Given the description of an element on the screen output the (x, y) to click on. 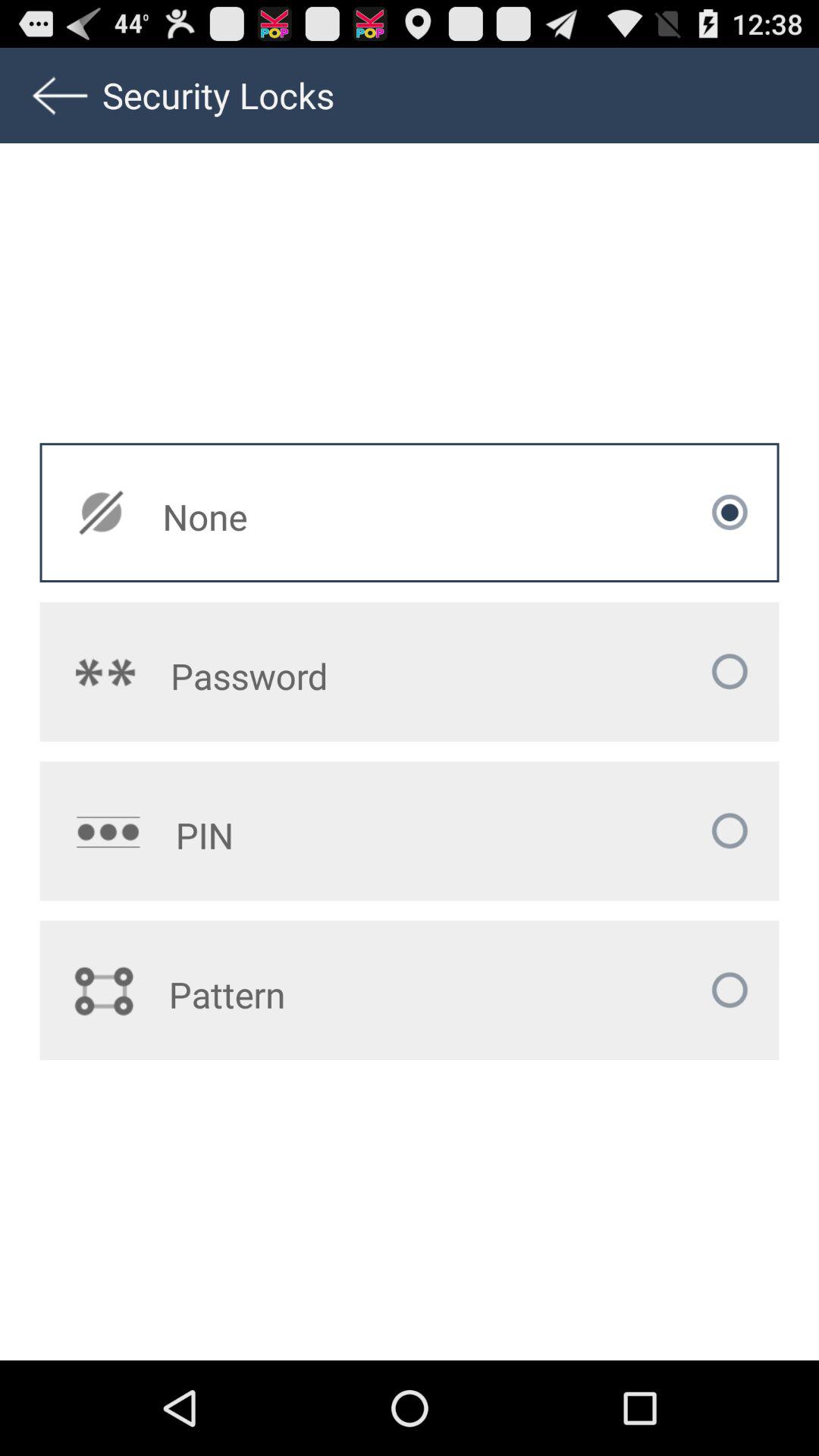
choose the app below the password icon (324, 835)
